Given the description of an element on the screen output the (x, y) to click on. 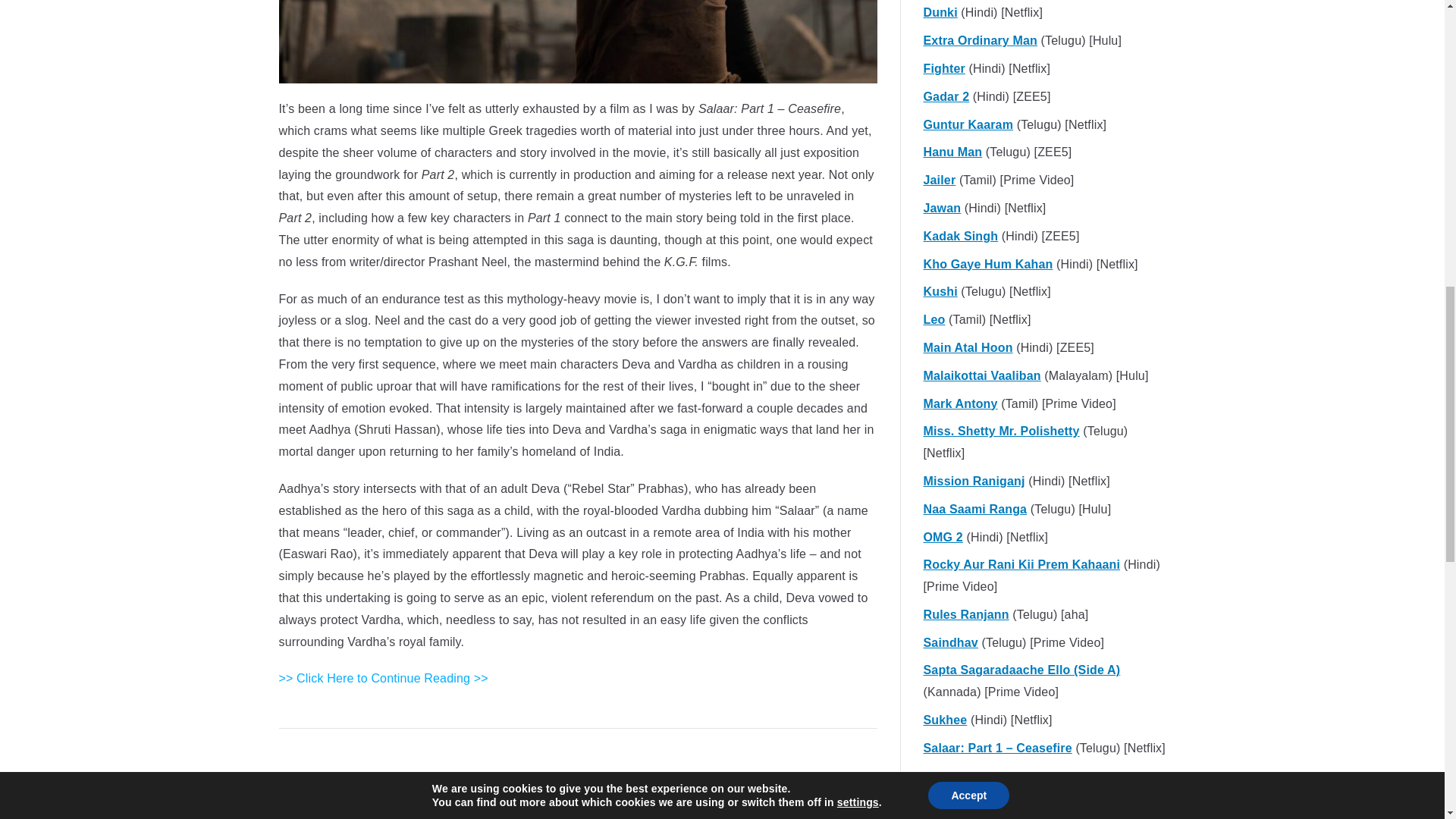
Fighter (944, 69)
Extra Ordinary Man (979, 41)
Dunki (940, 13)
